Given the description of an element on the screen output the (x, y) to click on. 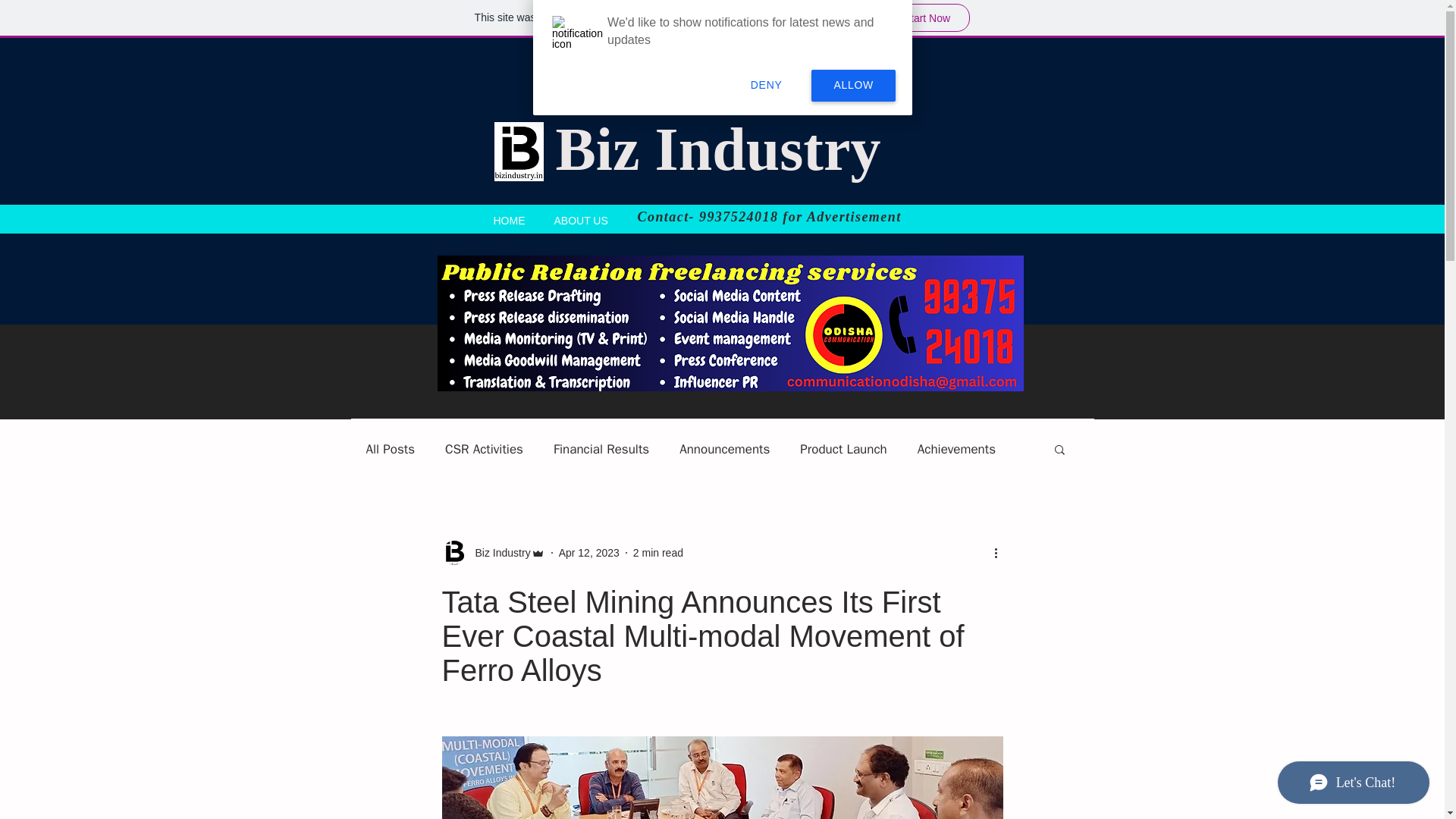
Apr 12, 2023 (589, 551)
Biz Industry (717, 149)
ABOUT US (581, 218)
HOME (509, 218)
Biz Industry (497, 552)
ALLOW (852, 85)
Product Launch (842, 448)
Achievements (956, 448)
Financial Results (601, 448)
Announcements (724, 448)
2 min read (657, 551)
All Posts (389, 448)
CSR Activities (483, 448)
